Given the description of an element on the screen output the (x, y) to click on. 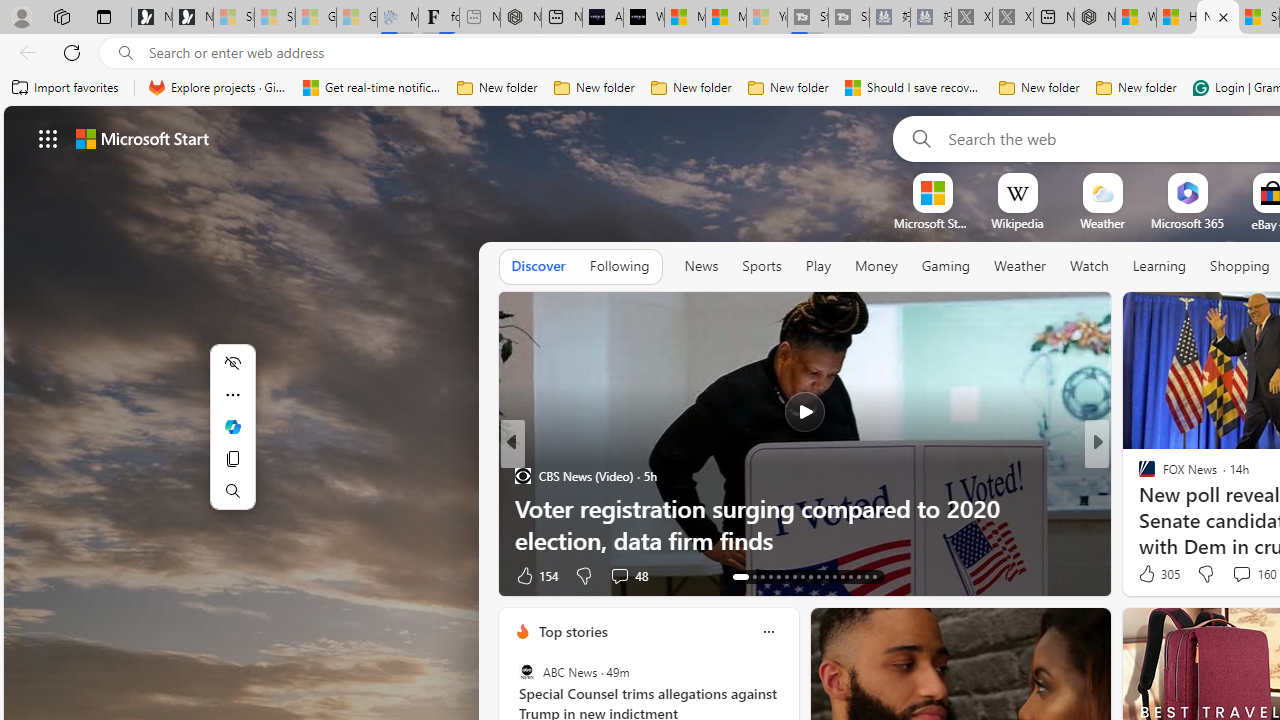
49 Like (532, 574)
Should I save recovered Word documents? - Microsoft Support (913, 88)
View comments 1k Comment (1228, 575)
Search (232, 490)
157 Like (1151, 574)
View comments 5 Comment (1234, 574)
Back (24, 52)
View comments 107 Comment (1234, 575)
305 Like (1157, 574)
Top stories (572, 631)
94 Like (1149, 574)
Refresh (72, 52)
View comments 61 Comment (1244, 574)
Start the conversation (1235, 574)
Weather (1019, 267)
